Given the description of an element on the screen output the (x, y) to click on. 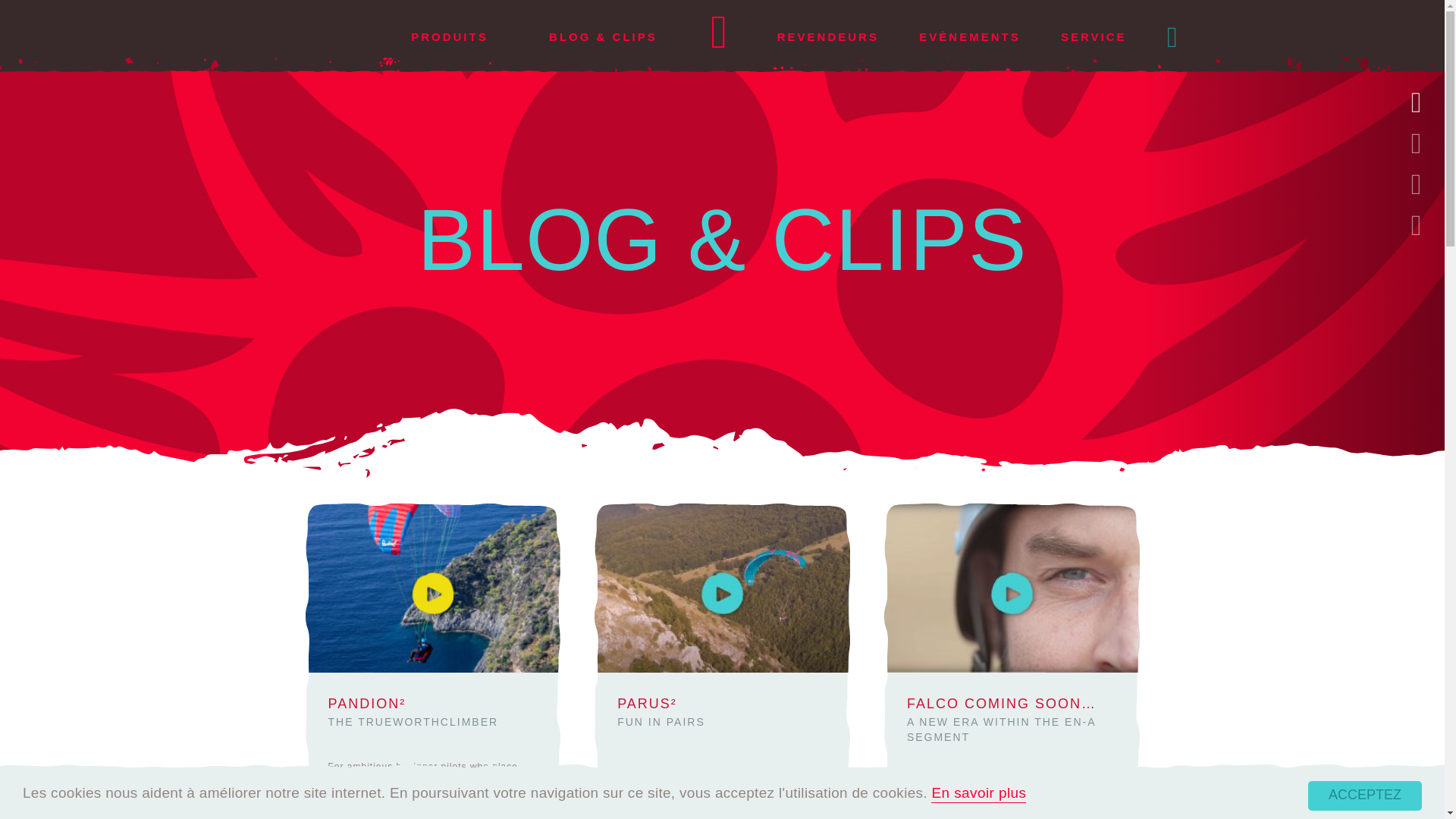
PRODUITS (449, 36)
